Given the description of an element on the screen output the (x, y) to click on. 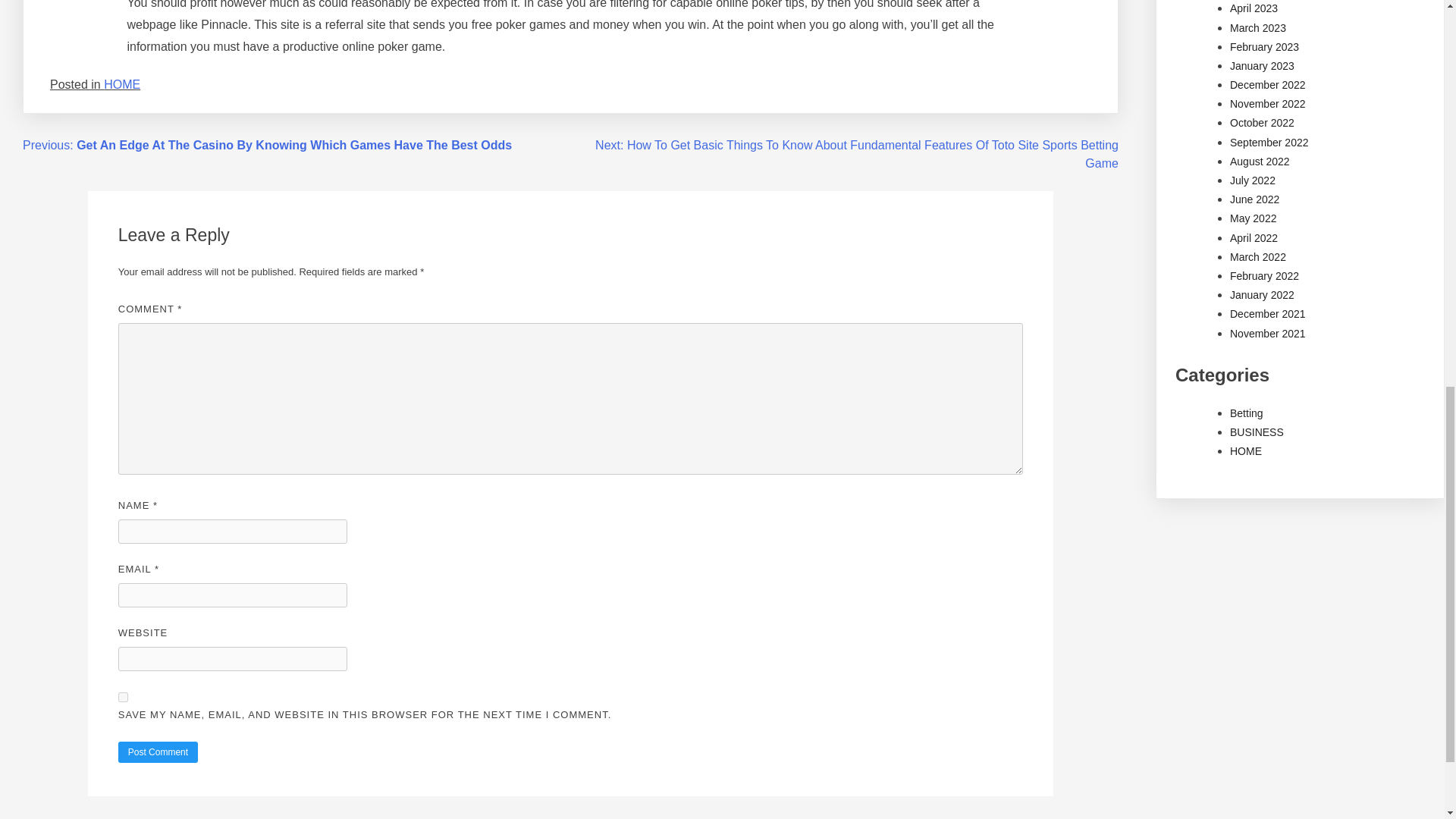
Post Comment (157, 752)
yes (122, 696)
Post Comment (157, 752)
HOME (121, 83)
